Given the description of an element on the screen output the (x, y) to click on. 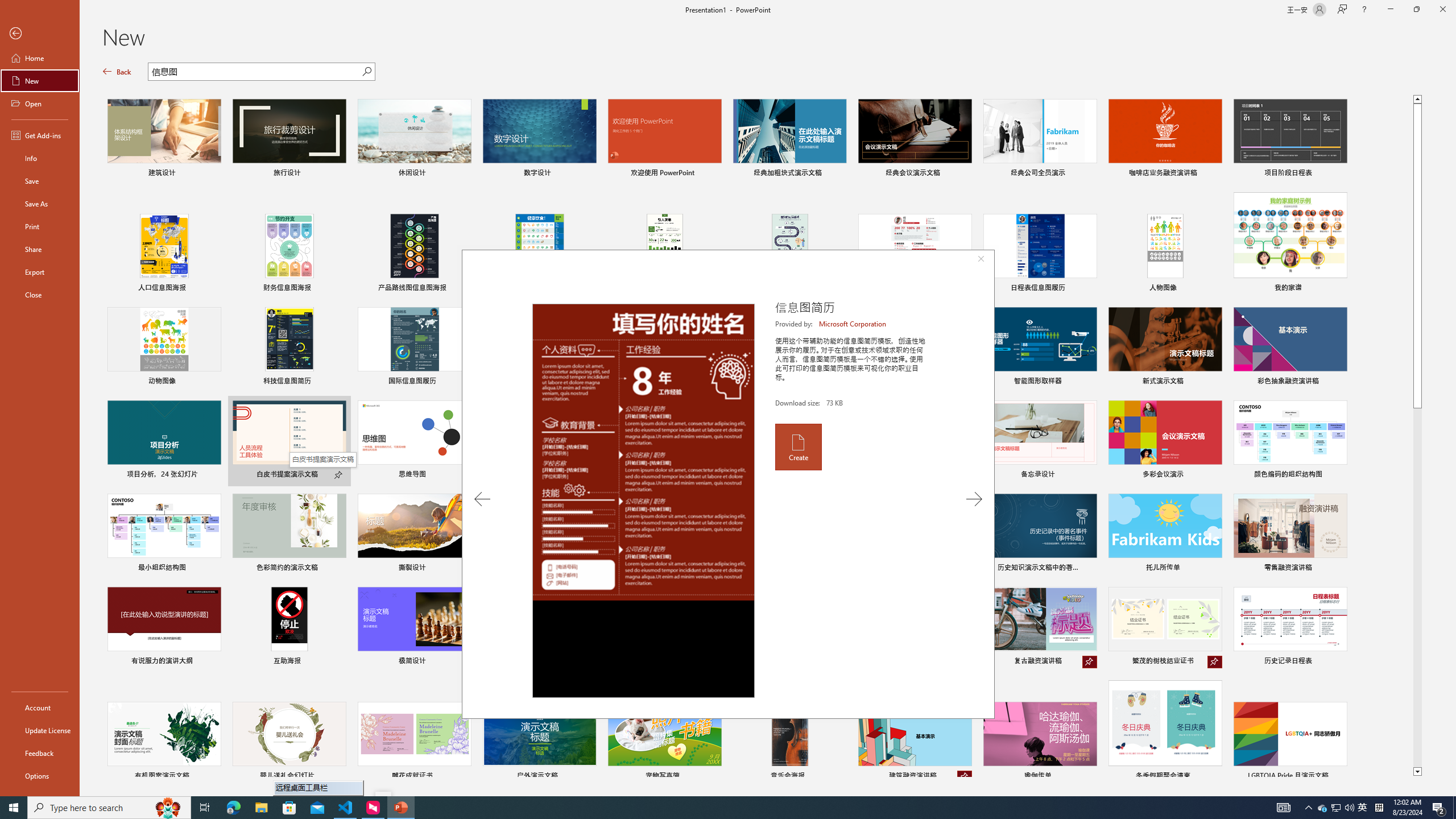
New (40, 80)
